Given the description of an element on the screen output the (x, y) to click on. 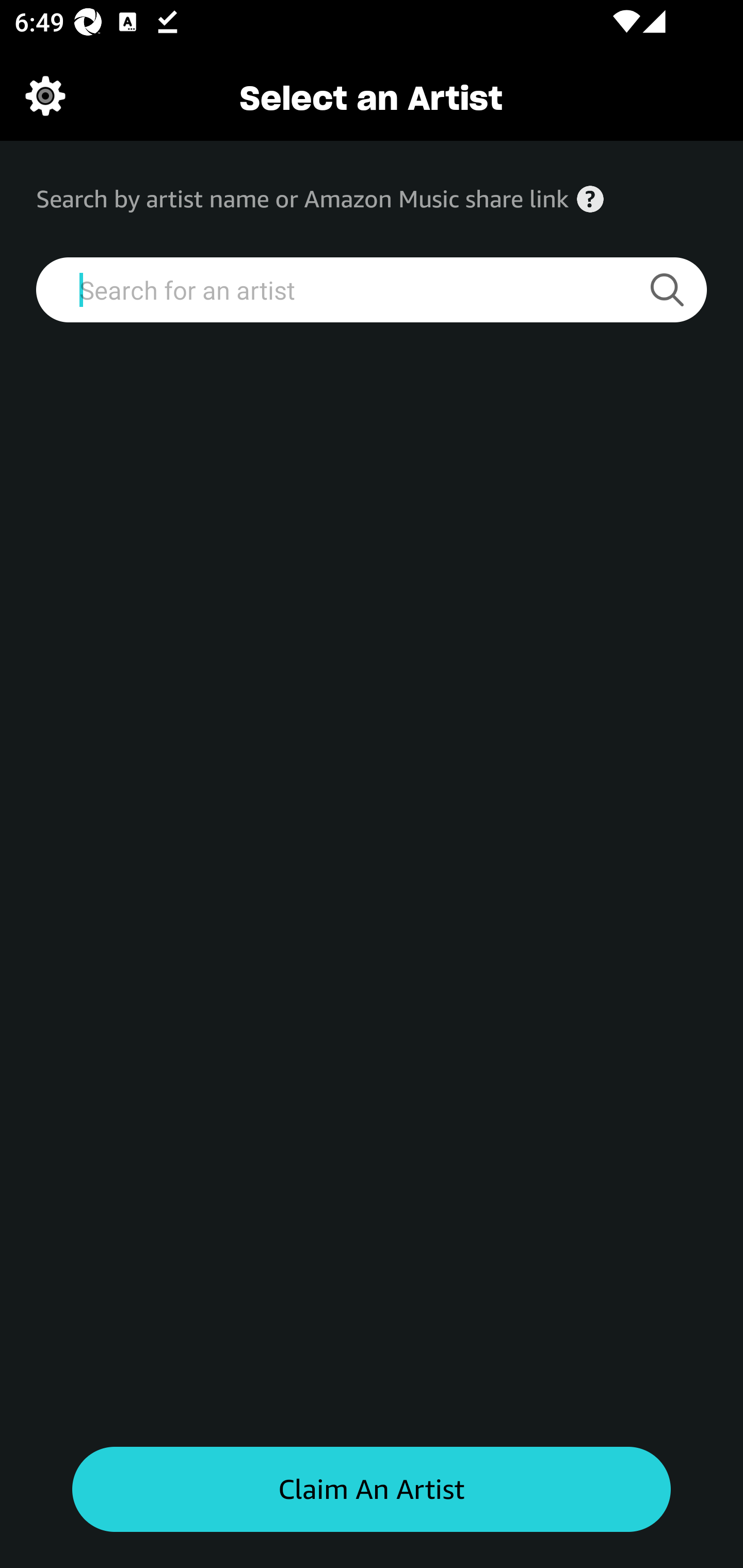
Help  icon (589, 199)
Claim an artist button Claim An Artist (371, 1489)
